Given the description of an element on the screen output the (x, y) to click on. 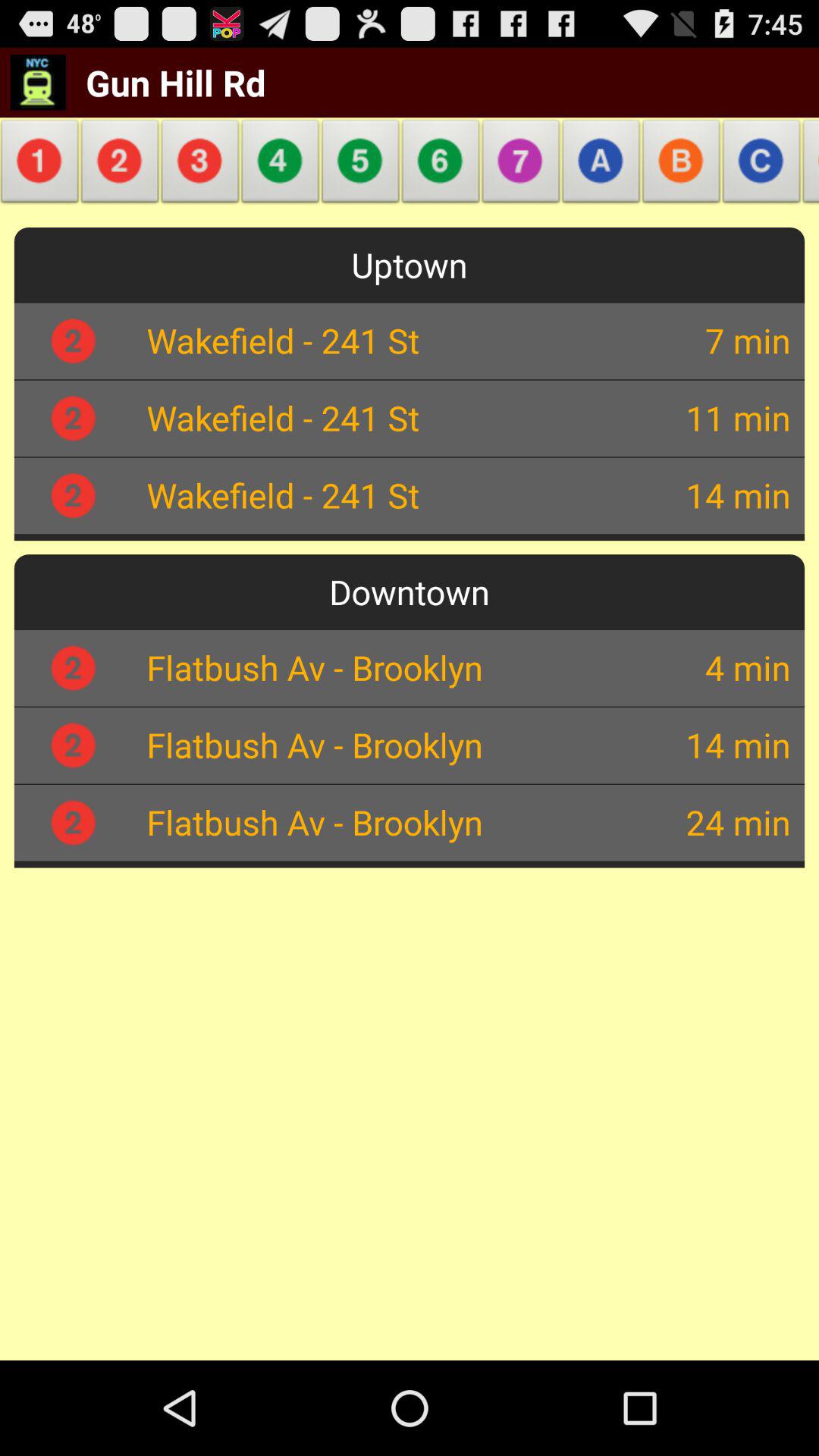
open app above the uptown app (440, 165)
